Given the description of an element on the screen output the (x, y) to click on. 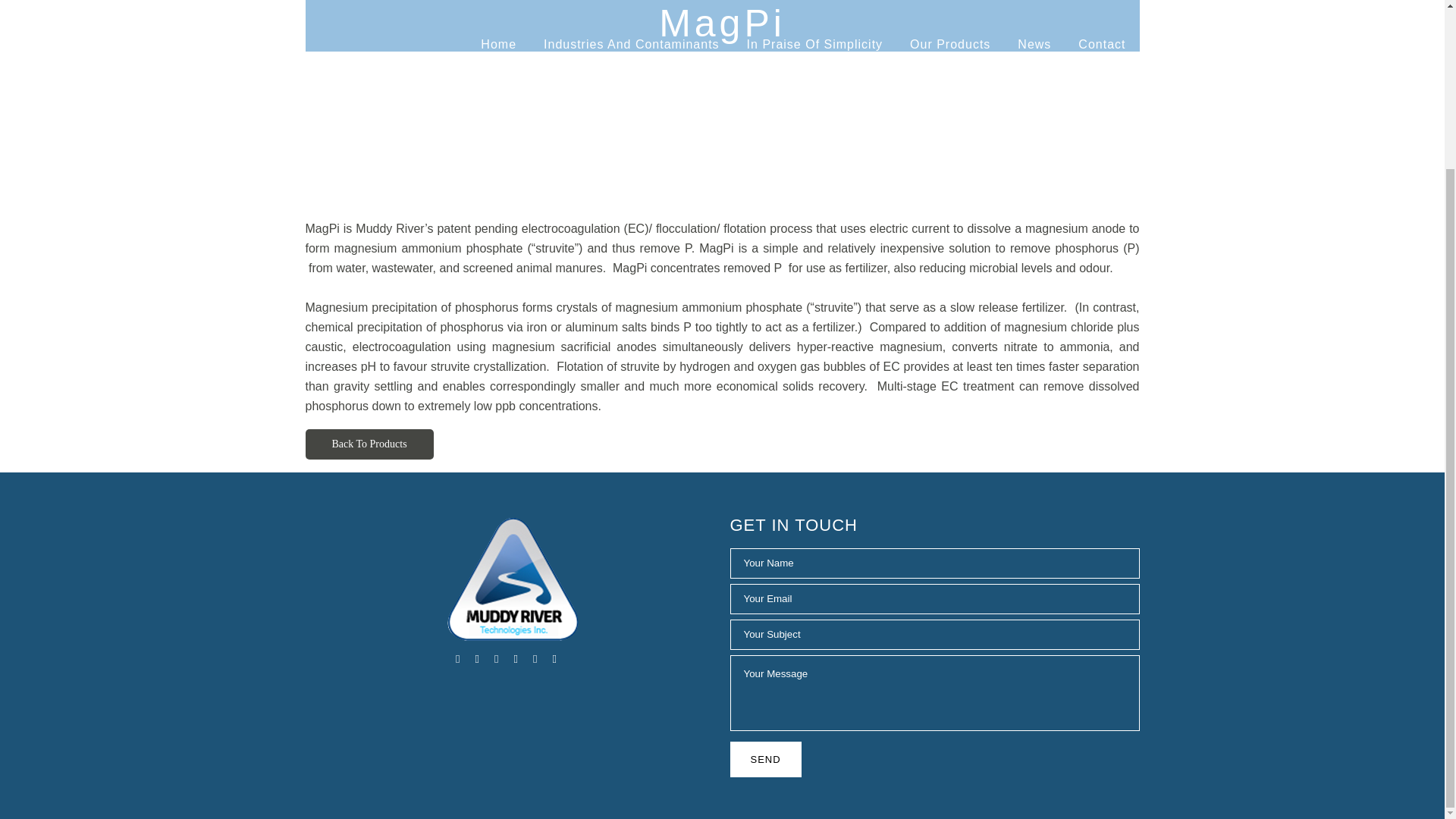
SEND (764, 759)
Back To Products (368, 444)
SEND (764, 759)
